Given the description of an element on the screen output the (x, y) to click on. 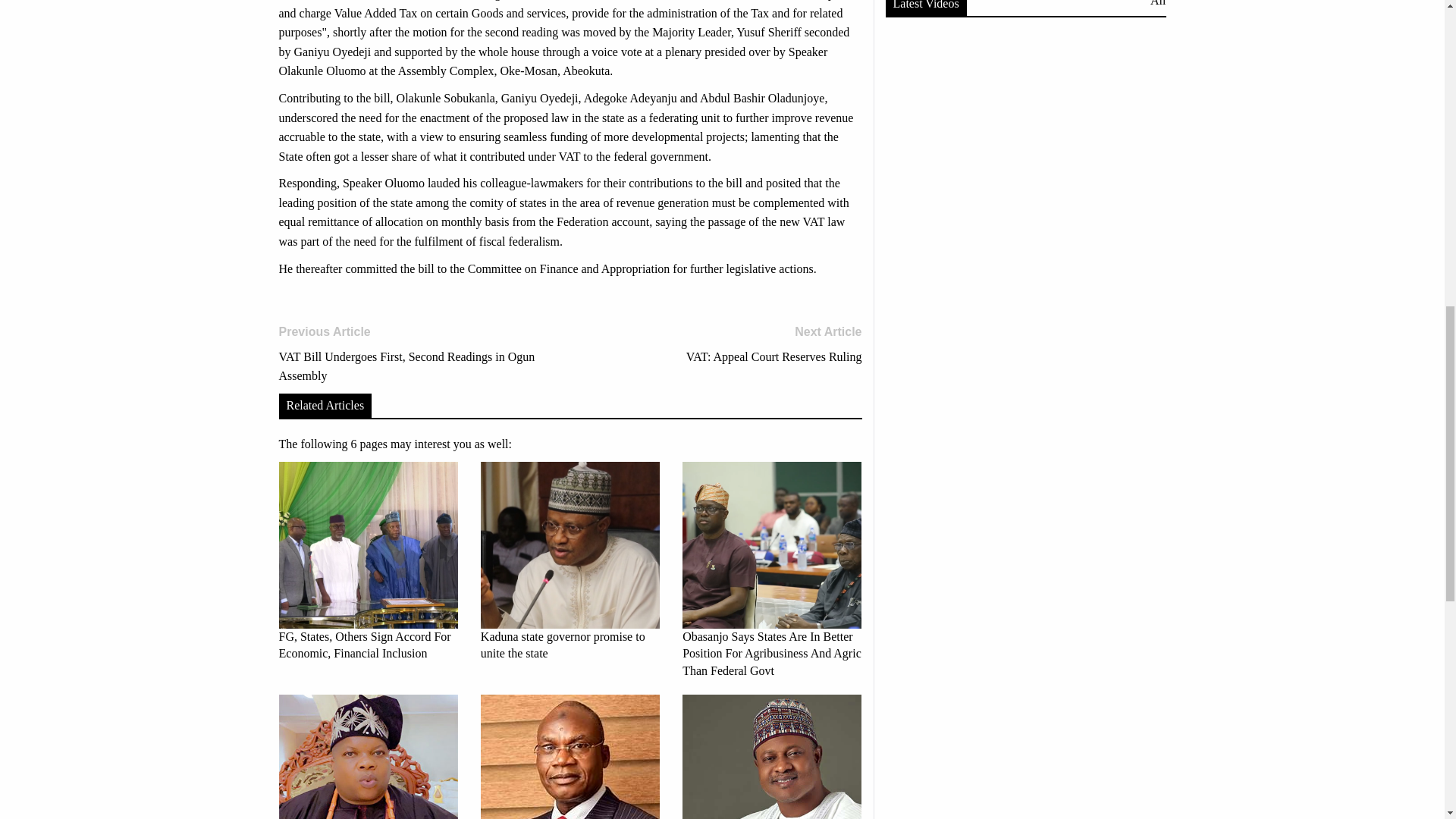
VAT Bill Undergoes First, Second Readings in Ogun Assembly (720, 344)
FG restates commitment to funding of Research innovations (419, 354)
Kaduna state governor promise to unite the state (569, 756)
VAT: Appeal Court Reserves Ruling (569, 561)
